Given the description of an element on the screen output the (x, y) to click on. 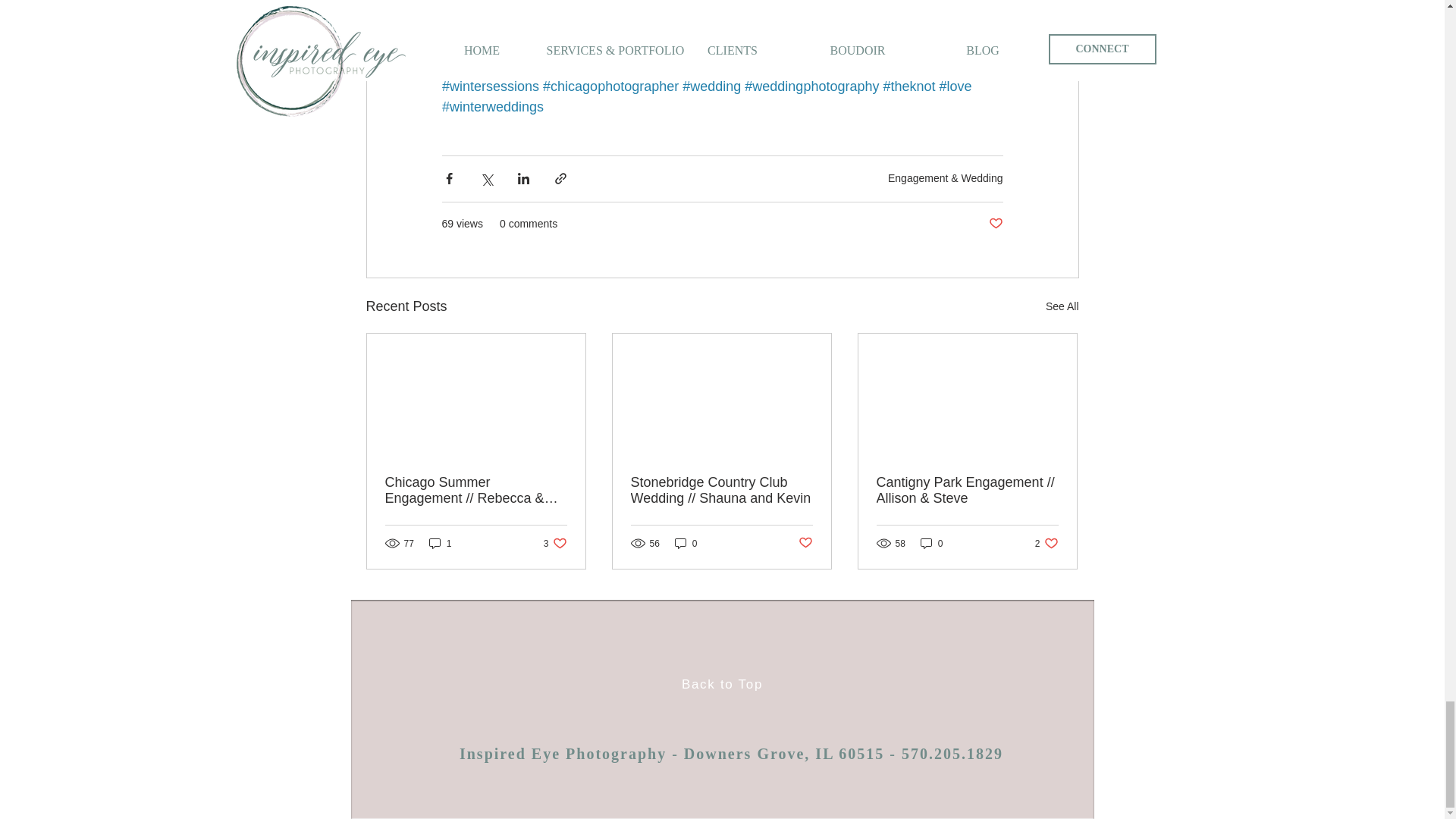
0 (1046, 543)
Post not marked as liked (685, 543)
See All (555, 543)
0 (995, 223)
1 (1061, 306)
Post not marked as liked (931, 543)
